Given the description of an element on the screen output the (x, y) to click on. 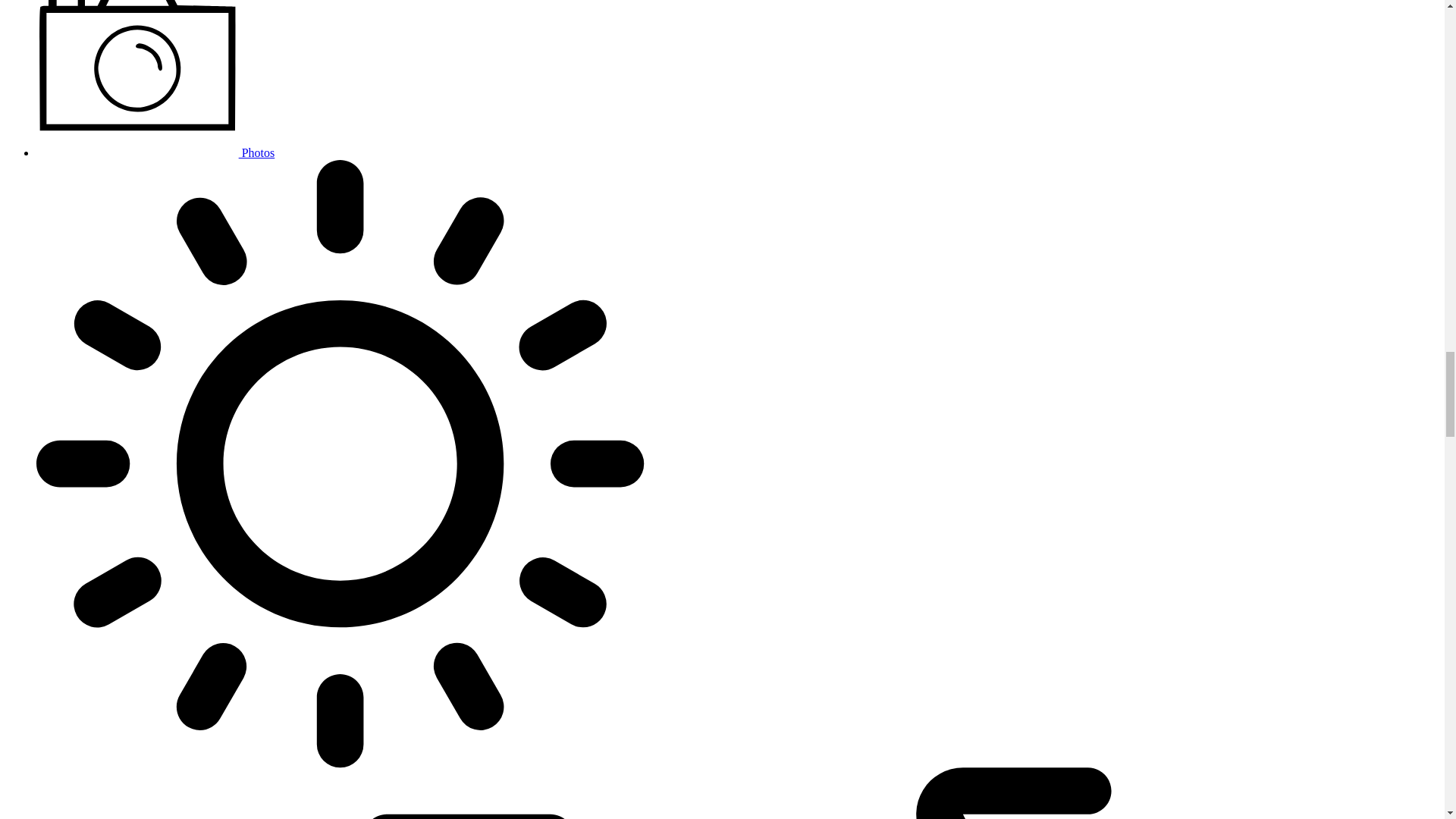
Photos (155, 152)
Photos (155, 152)
